Given the description of an element on the screen output the (x, y) to click on. 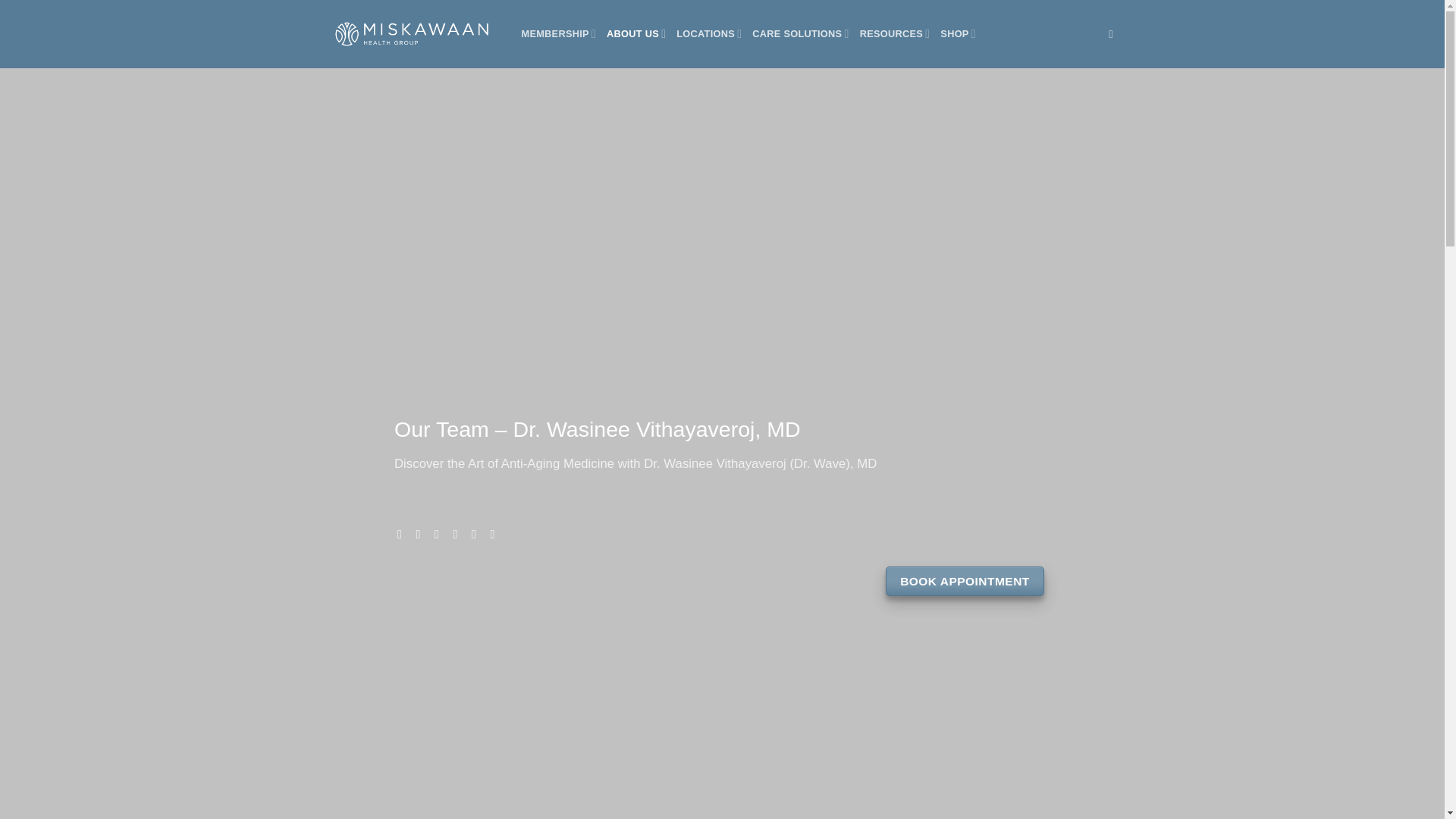
LOCATIONS (709, 33)
Miskawaan Health Group (411, 33)
MEMBERSHIP (558, 33)
ABOUT US (636, 33)
CARE SOLUTIONS (800, 33)
RESOURCES (895, 33)
